Given the description of an element on the screen output the (x, y) to click on. 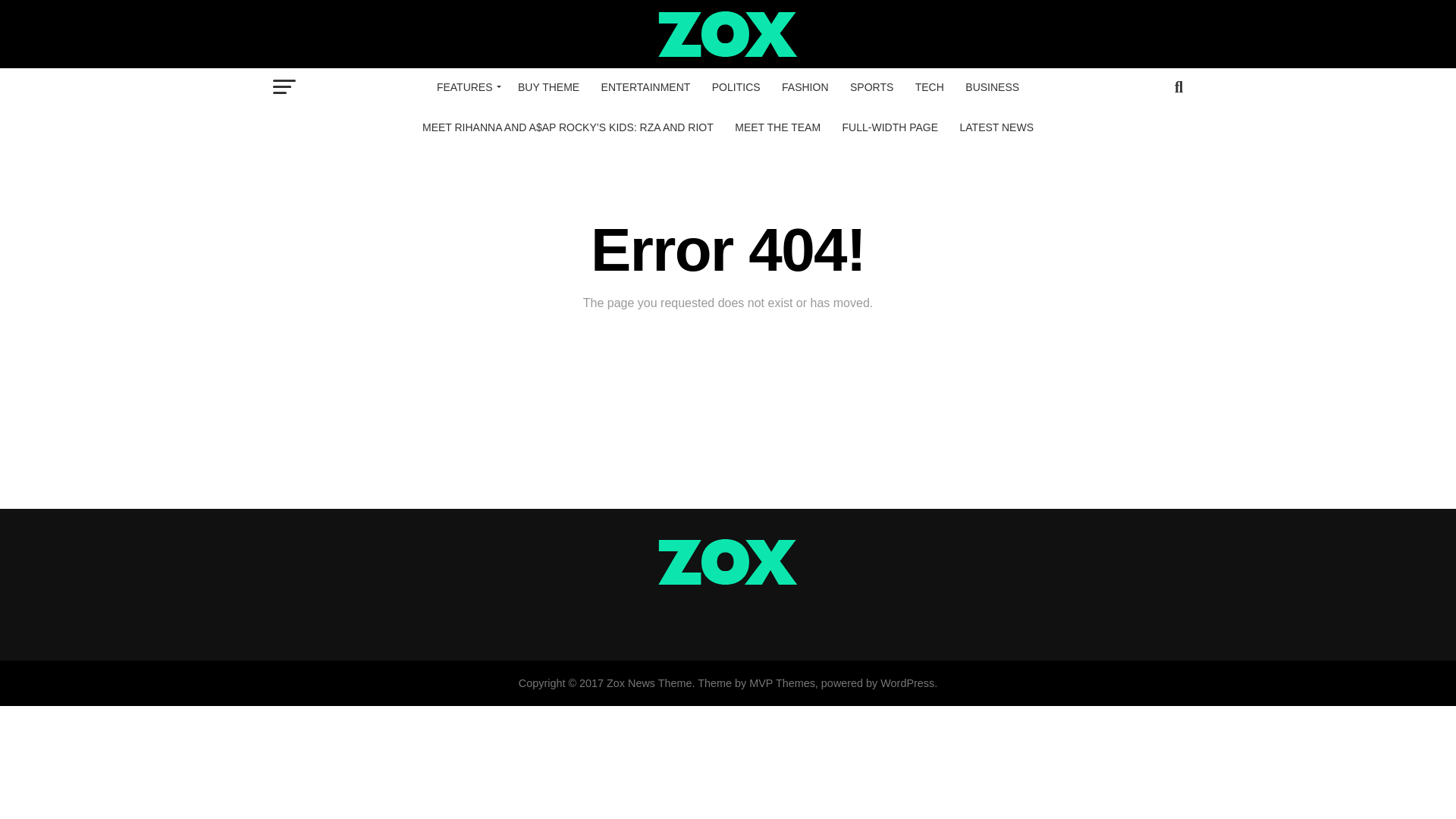
FEATURES (466, 86)
FASHION (805, 86)
BUY THEME (548, 86)
ENTERTAINMENT (646, 86)
SPORTS (871, 86)
POLITICS (736, 86)
